Given the description of an element on the screen output the (x, y) to click on. 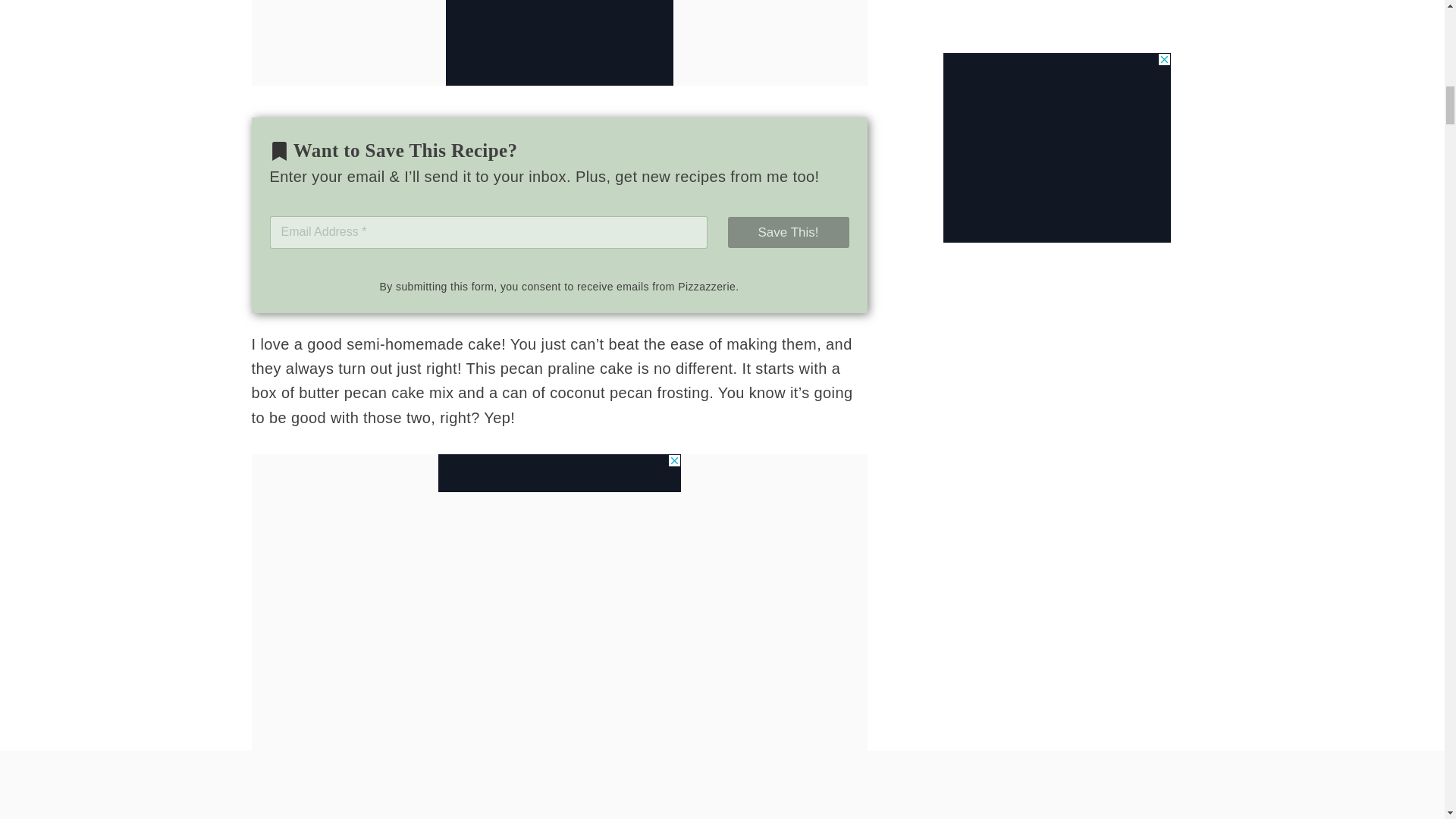
3rd party ad content (559, 473)
